Given the description of an element on the screen output the (x, y) to click on. 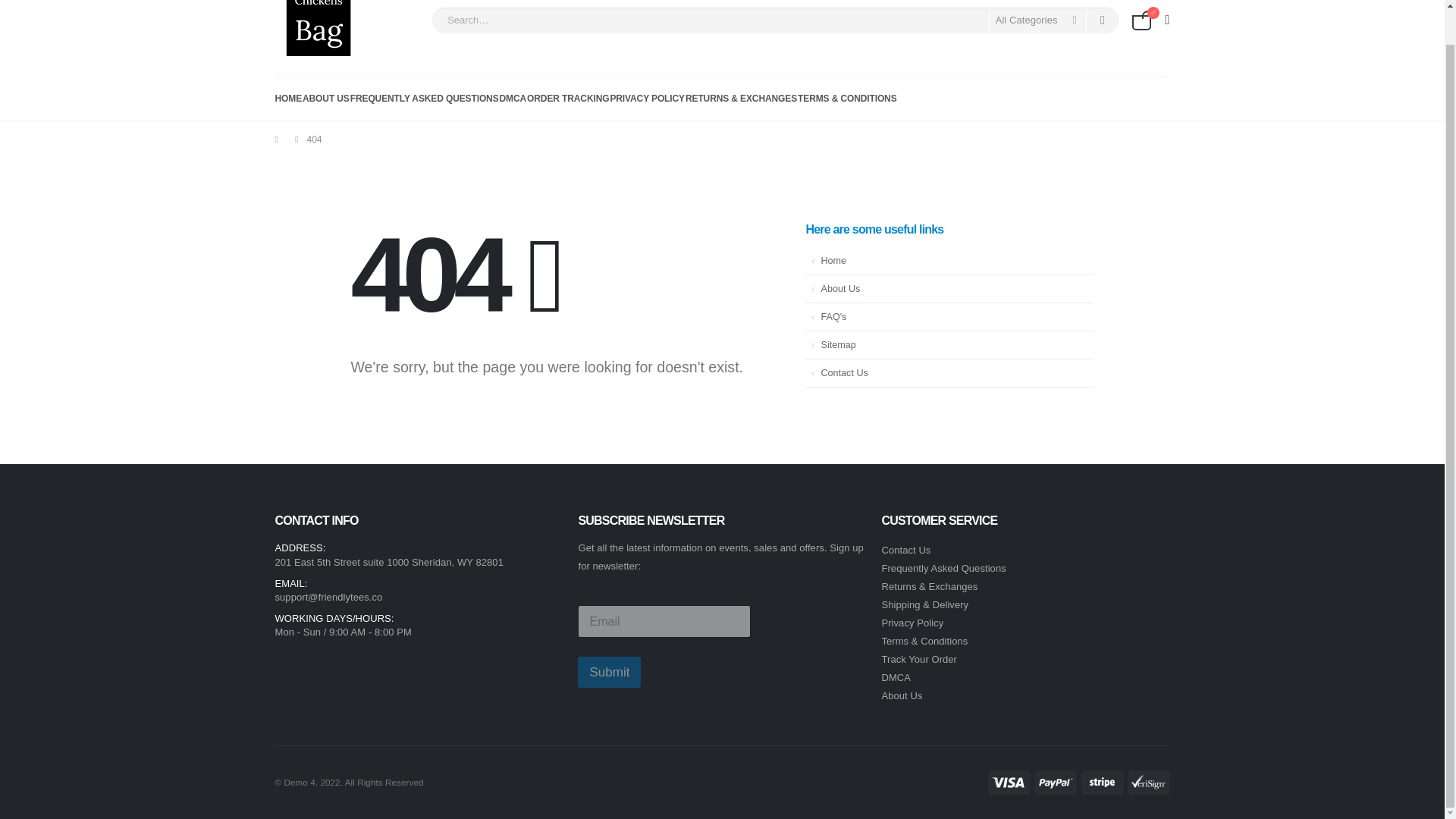
Sitemap (949, 345)
Frequently Asked Questions (943, 568)
Search (1102, 20)
Home (949, 261)
PRIVACY POLICY (647, 98)
About Us (900, 695)
Submit (609, 671)
DMCA (895, 677)
Track Your Order (918, 659)
ABOUT US (325, 98)
